Given the description of an element on the screen output the (x, y) to click on. 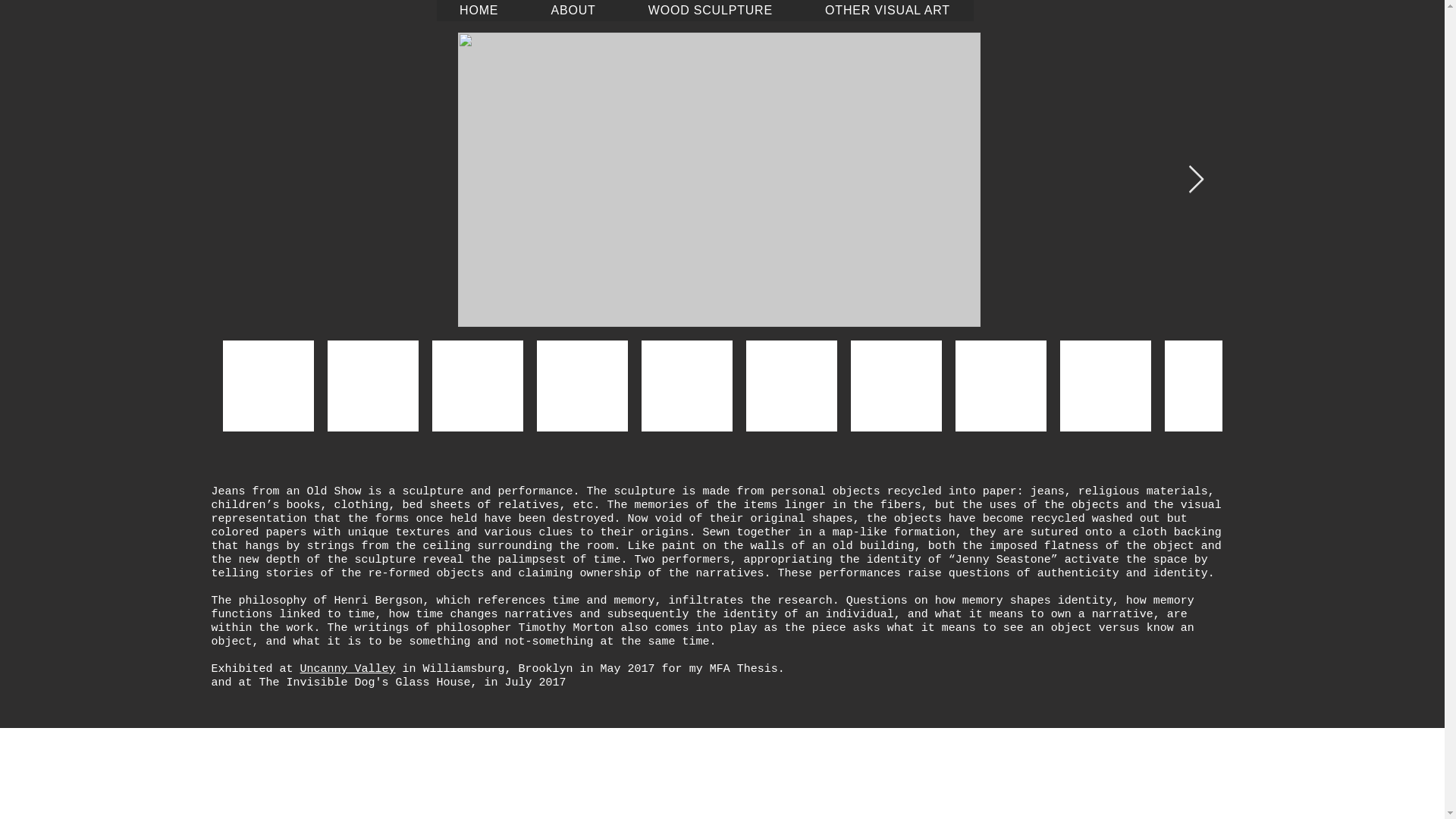
OTHER VISUAL ART (888, 10)
WOOD SCULPTURE (709, 10)
Uncanny Valley (347, 668)
HOME (478, 10)
ABOUT (572, 10)
